Given the description of an element on the screen output the (x, y) to click on. 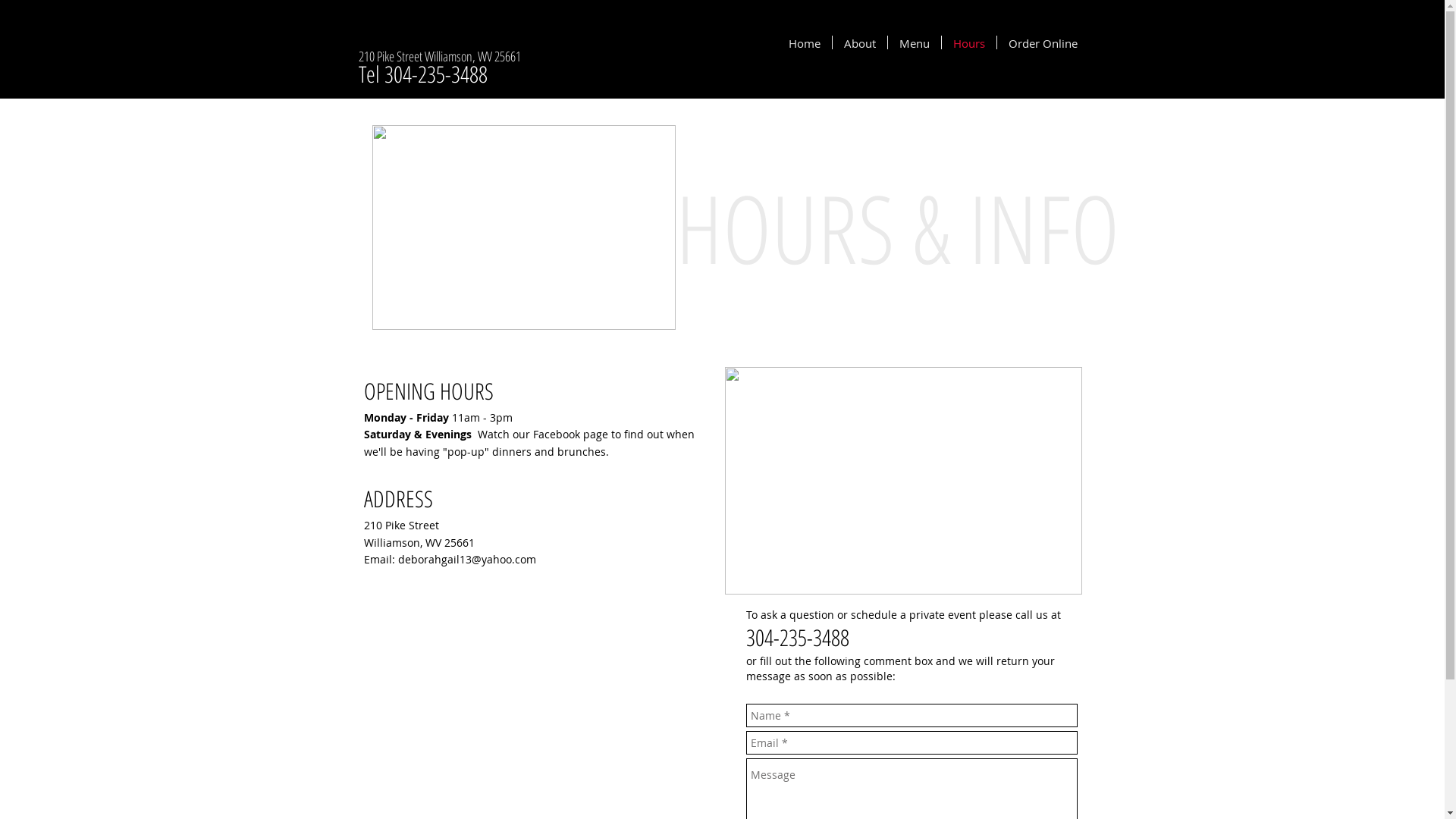
Hours Element type: text (968, 42)
Tel 304-235-3488 Element type: text (421, 73)
19030289_1429564083770589_1471457765831771039_n.jpg Element type: hover (903, 480)
Home Element type: text (803, 42)
Order Online Element type: text (1042, 42)
About Element type: text (859, 42)
deborahgail13@yahoo.com Element type: text (466, 559)
Menu Element type: text (913, 42)
